Given the description of an element on the screen output the (x, y) to click on. 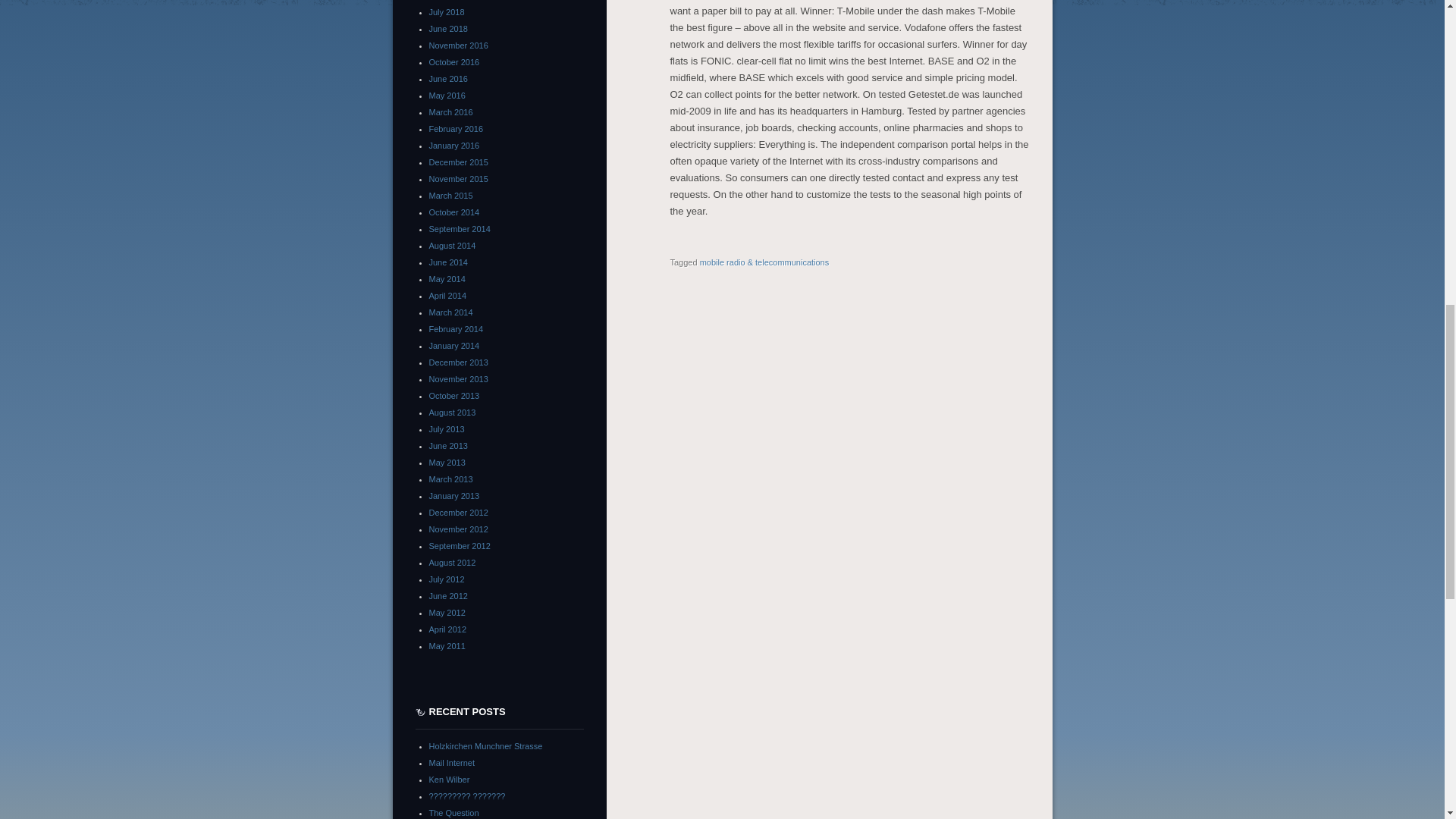
November 2016 (458, 44)
June 2018 (448, 28)
July 2018 (446, 11)
